Given the description of an element on the screen output the (x, y) to click on. 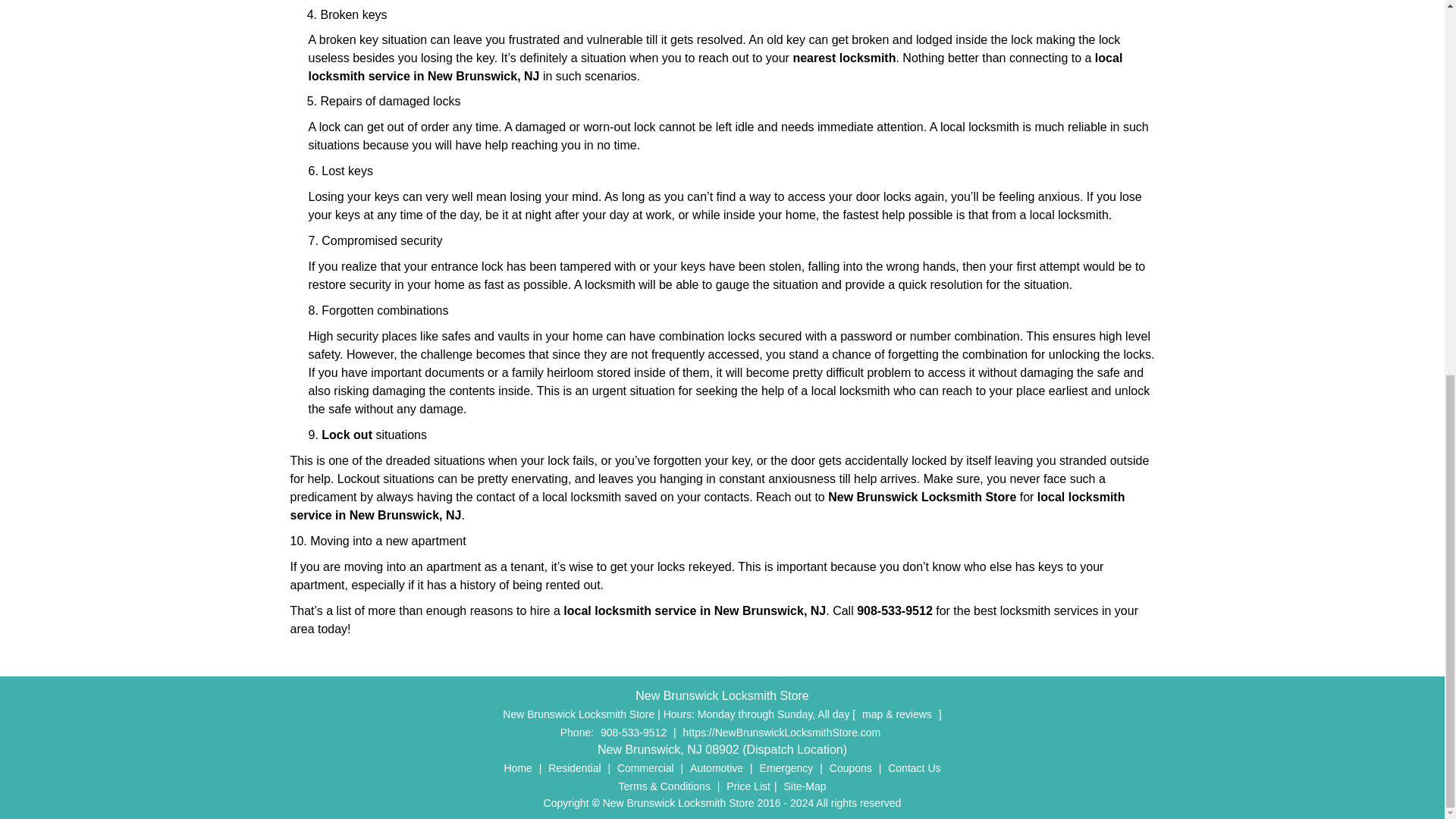
Contact Us (913, 767)
Residential (574, 767)
Coupons (850, 767)
Emergency (785, 767)
Price List (748, 786)
Home (517, 767)
908-533-9512 (632, 732)
Automotive (715, 767)
Commercial (645, 767)
